Given the description of an element on the screen output the (x, y) to click on. 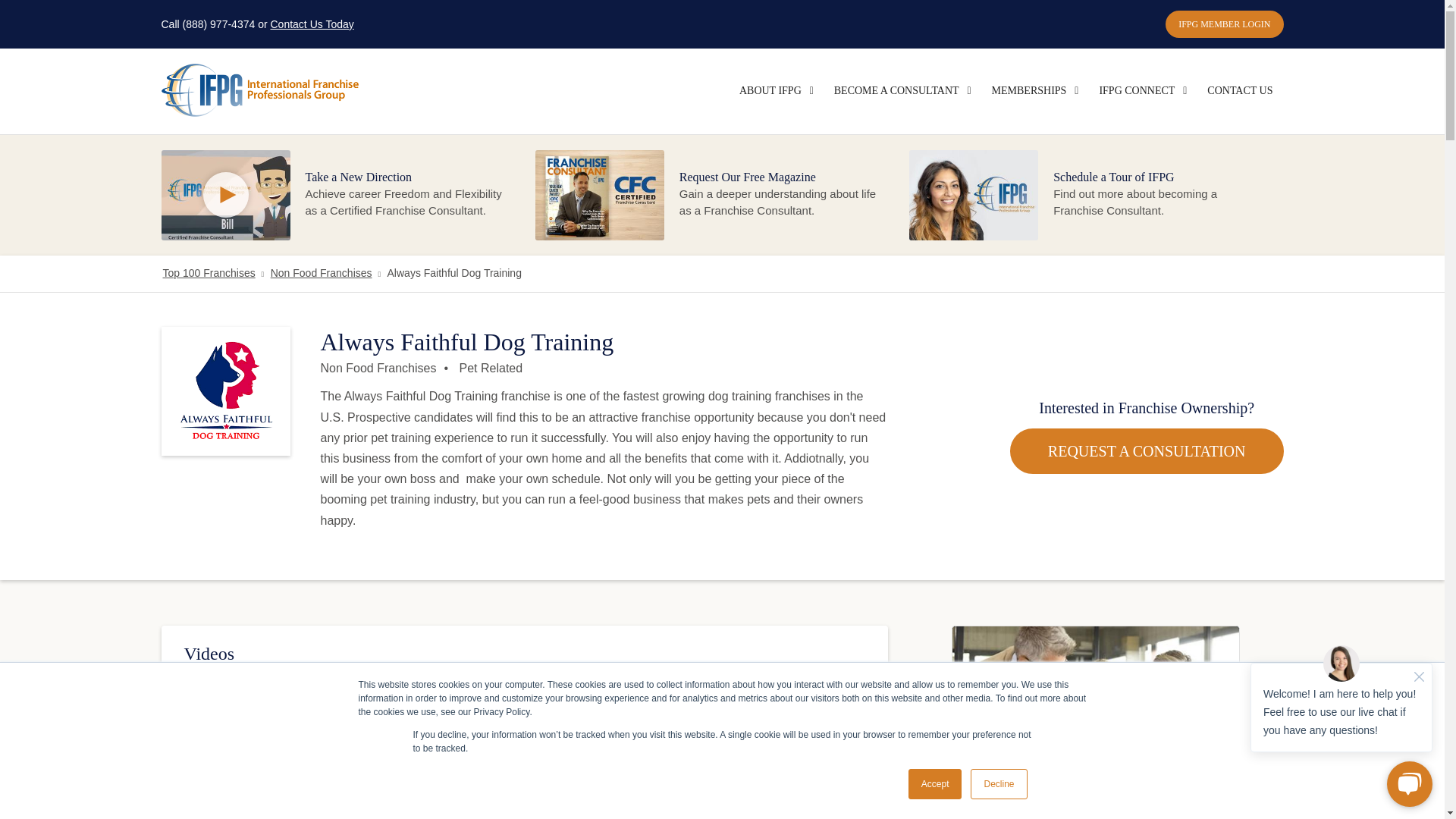
IFPG CONNECT (1136, 90)
IFPG Connect (1136, 90)
Memberships (1029, 90)
Contact Us (1239, 90)
ABOUT IFPG (770, 90)
IFPG MEMBER LOGIN (1224, 23)
Accept (935, 784)
About IFPG (770, 90)
BECOME A CONSULTANT (896, 90)
Become a Consultant (896, 90)
Decline (998, 784)
Contact Us Today (311, 24)
MEMBERSHIPS (1029, 90)
